Given the description of an element on the screen output the (x, y) to click on. 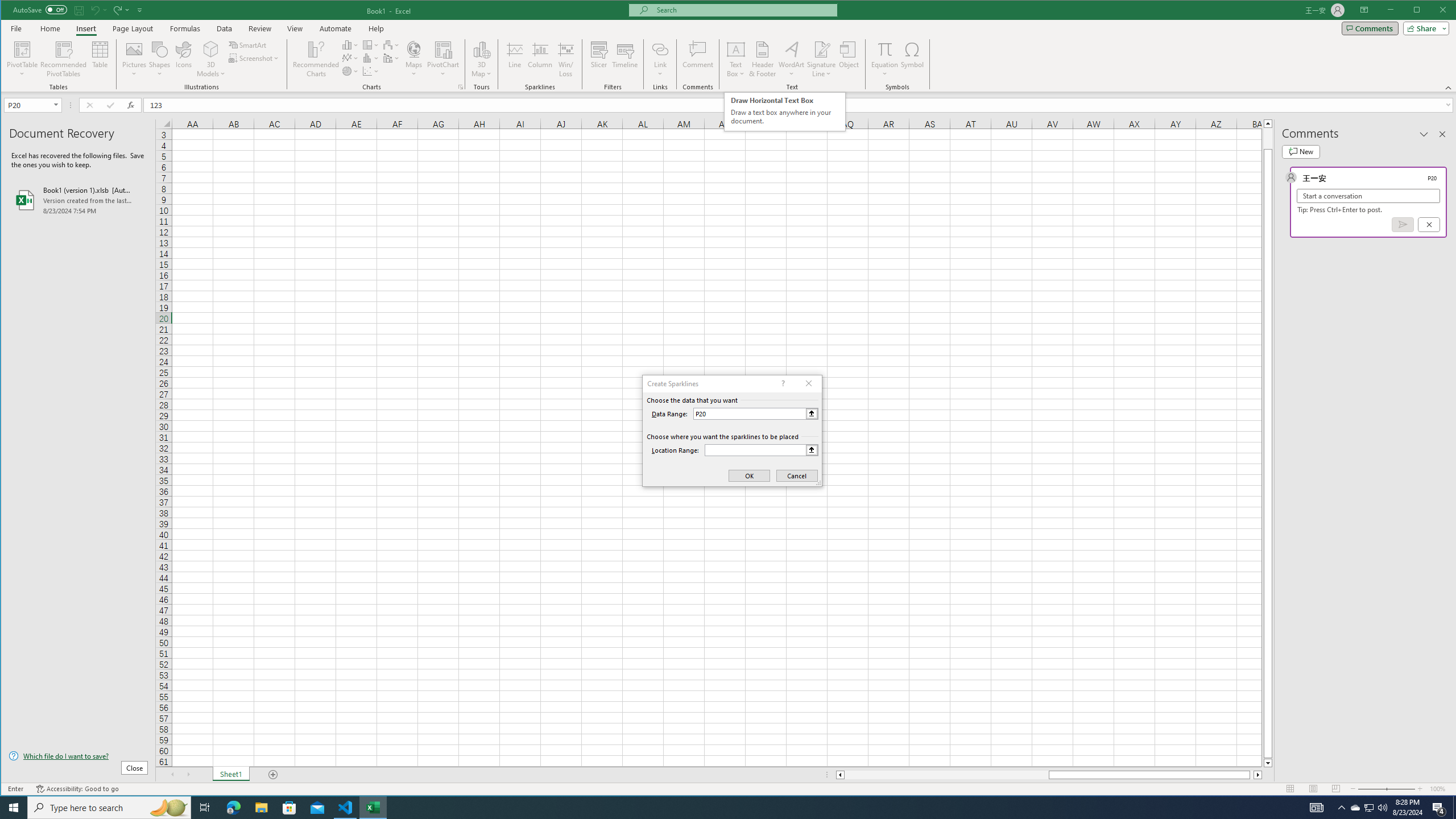
Insert Statistic Chart (371, 57)
AutoSave (39, 9)
Recommended Charts (460, 86)
Screenshot (254, 57)
Column (540, 59)
Class: MsoCommandBar (728, 45)
Signature Line (821, 59)
Symbol... (912, 59)
Page up (1267, 138)
Draw Horizontal Text Box (735, 48)
Post comment (Ctrl + Enter) (1402, 224)
Timeline (625, 59)
